Given the description of an element on the screen output the (x, y) to click on. 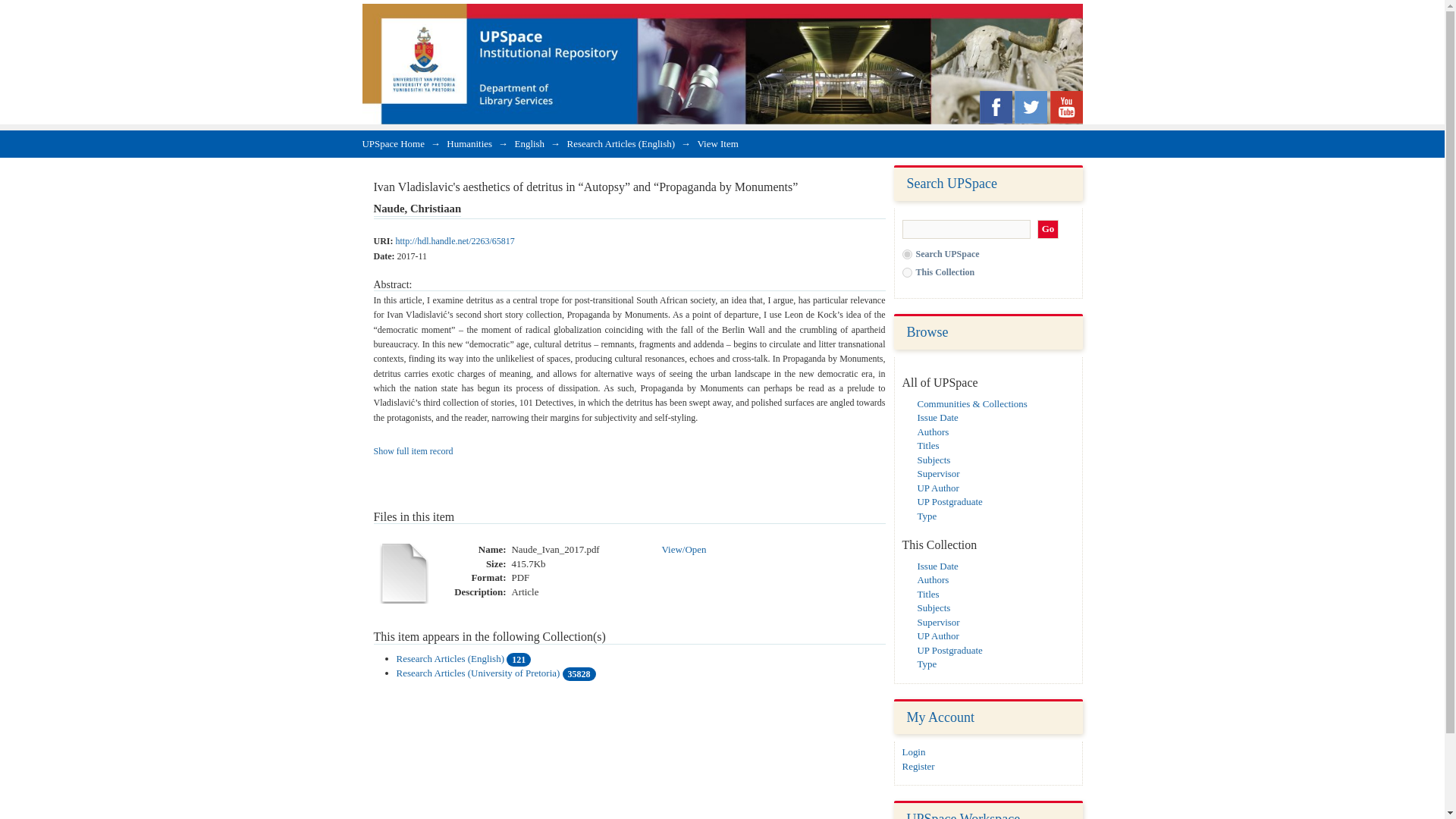
Subjects (933, 459)
UP Postgraduate (949, 650)
Titles (928, 445)
Authors (933, 431)
Titles (928, 593)
Humanities (469, 143)
Supervisor (938, 622)
UPSpace Home (393, 143)
UP Postgraduate (949, 501)
Register (918, 766)
